Given the description of an element on the screen output the (x, y) to click on. 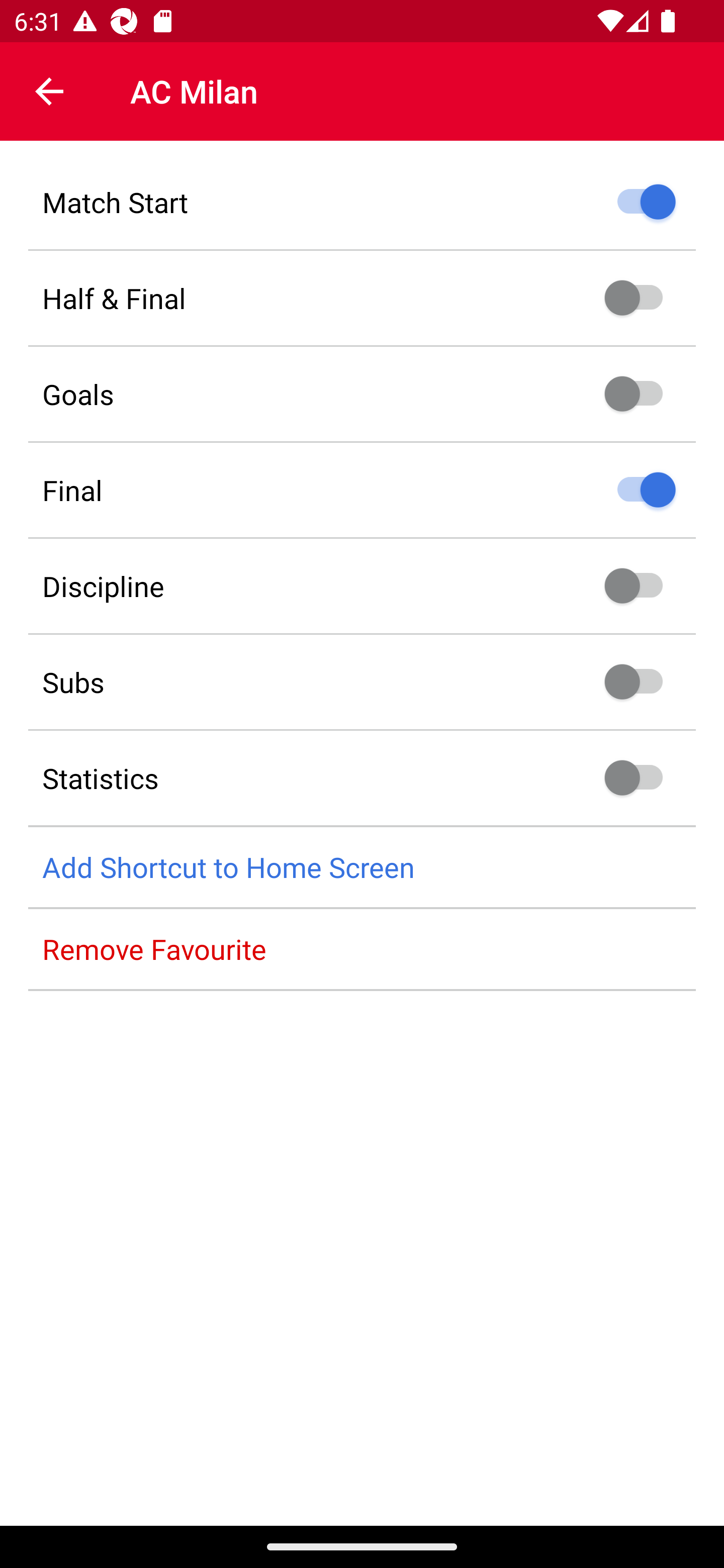
Navigate up (49, 91)
Add Shortcut to Home Screen (362, 867)
Remove Favourite (362, 948)
